Given the description of an element on the screen output the (x, y) to click on. 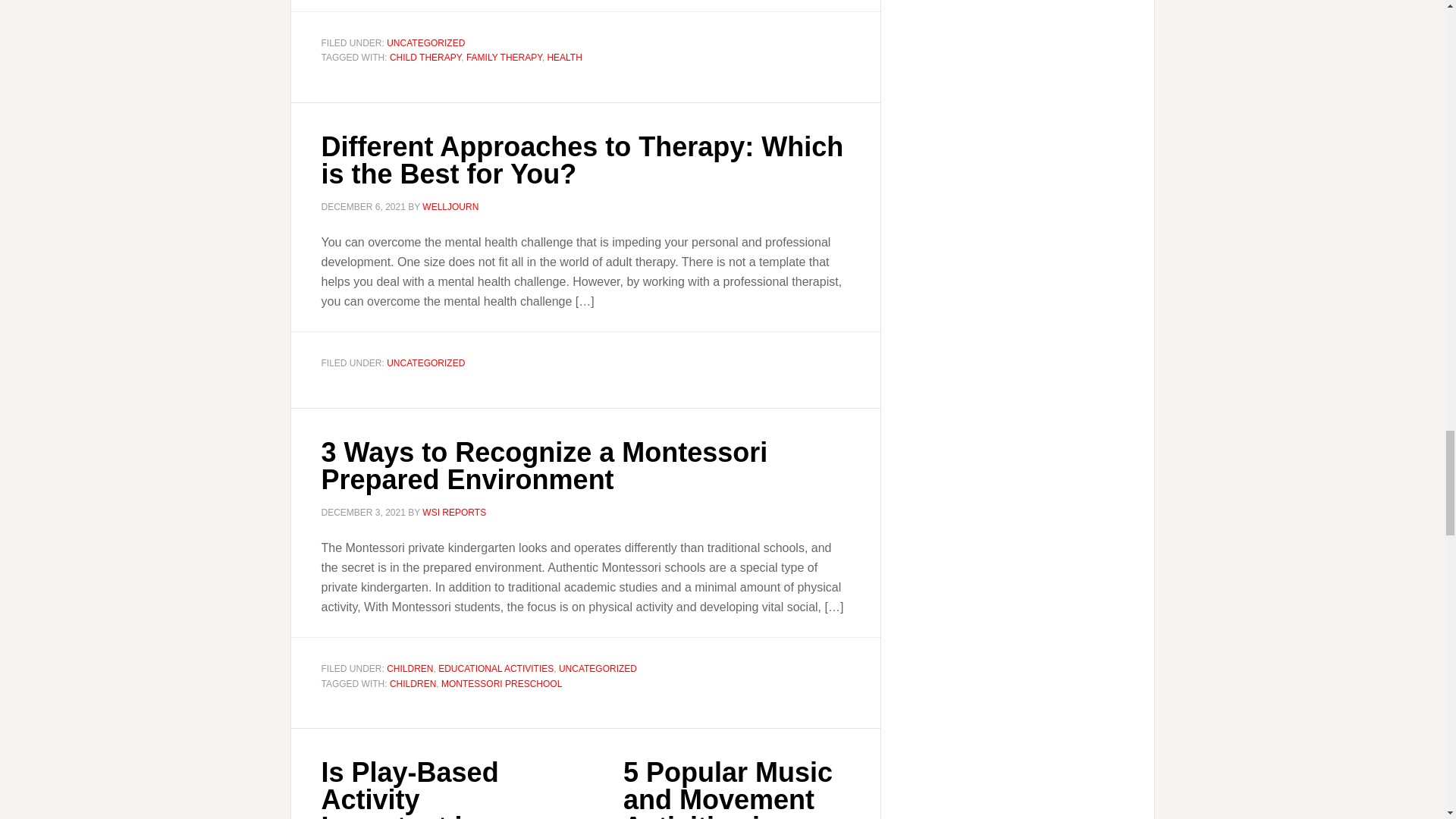
FAMILY THERAPY (503, 57)
CHILD THERAPY (425, 57)
UNCATEGORIZED (425, 42)
